Given the description of an element on the screen output the (x, y) to click on. 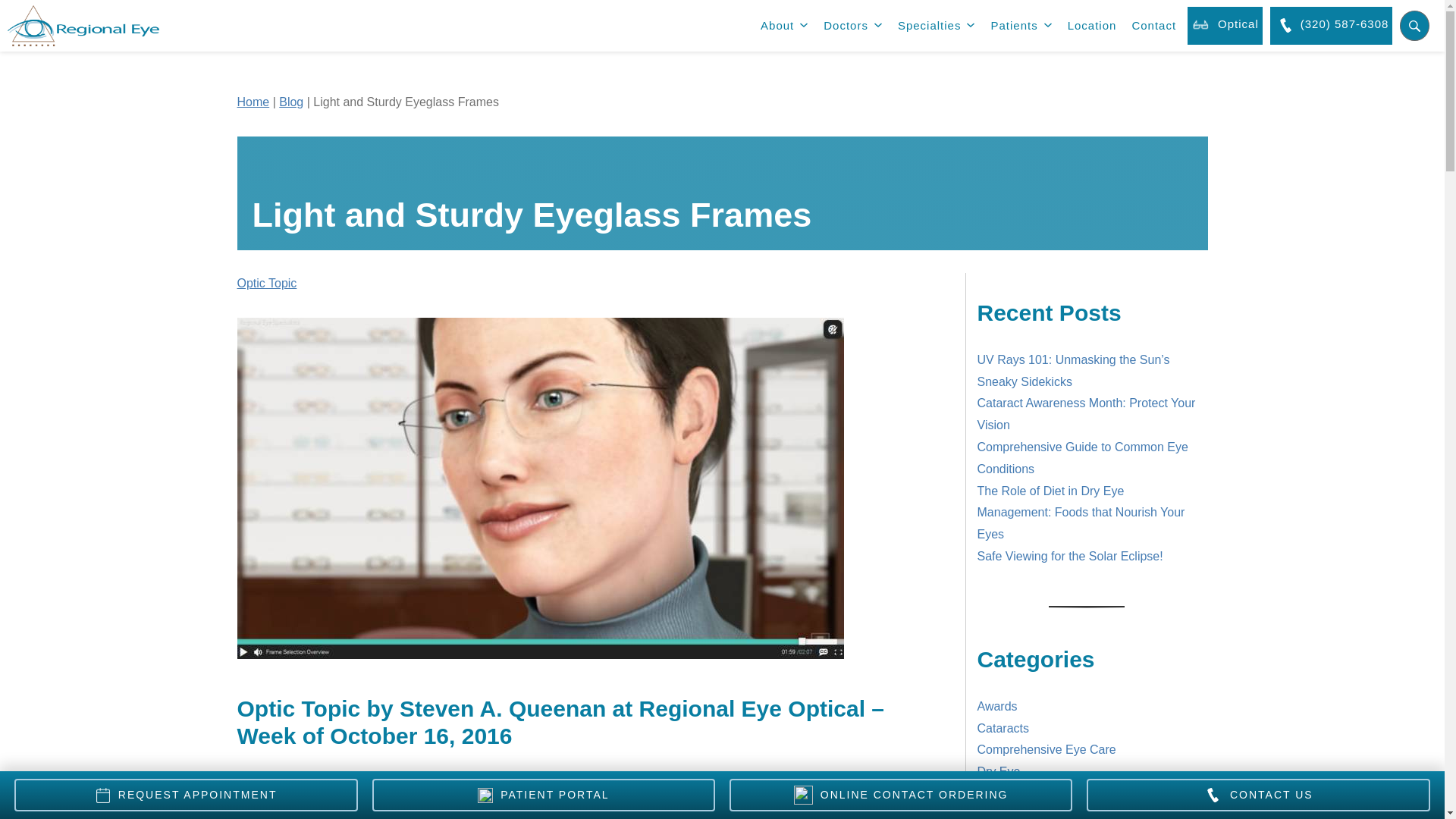
About (775, 25)
Patients (1013, 25)
Doctors (844, 25)
Specialties (927, 25)
Location (1092, 25)
